Given the description of an element on the screen output the (x, y) to click on. 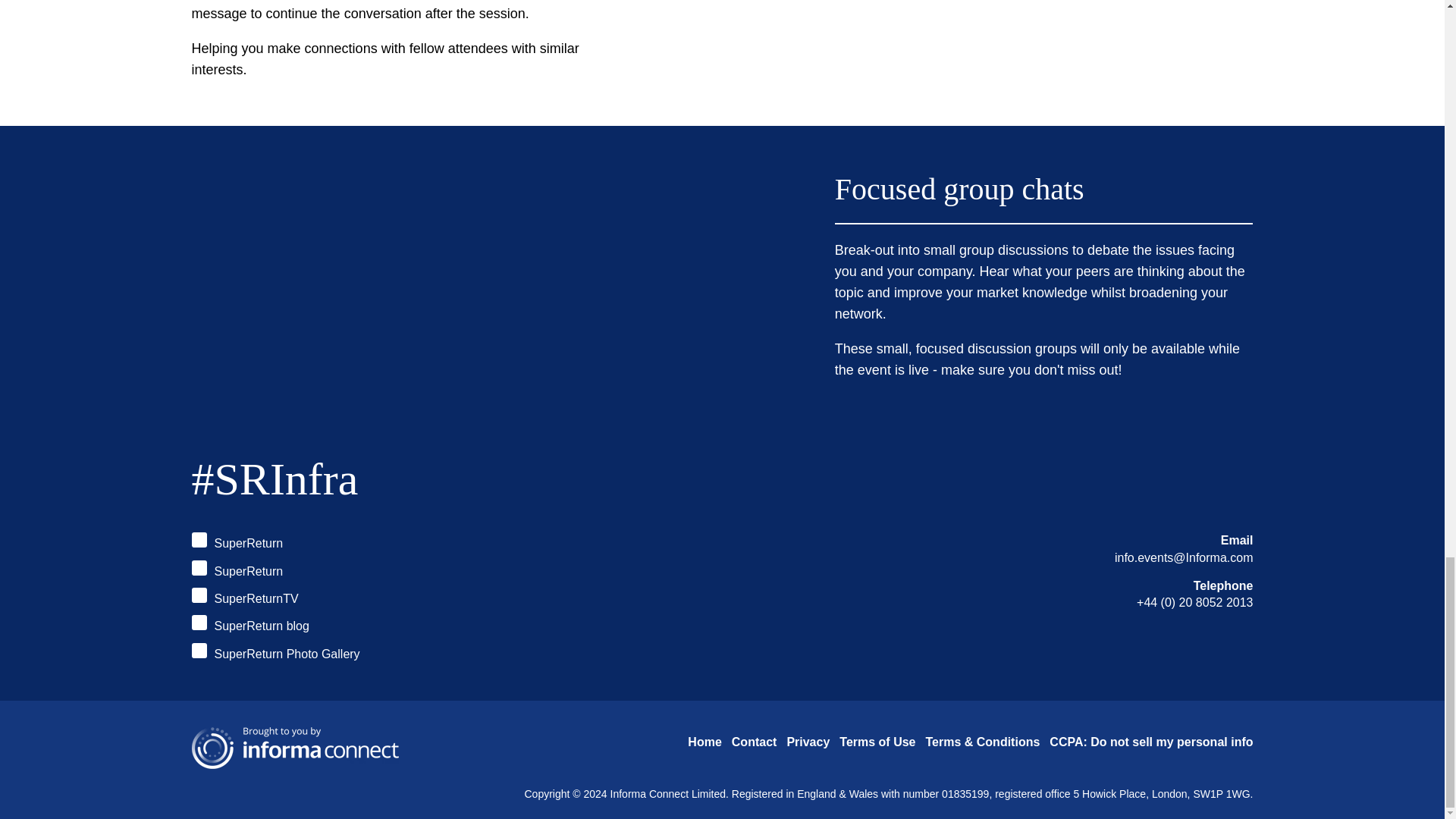
SuperReturn blog (249, 624)
SuperReturnTV (244, 597)
Home (703, 741)
SuperReturn Photo Gallery (274, 652)
Contact (754, 741)
Privacy (807, 741)
Terms of Use (877, 741)
SuperReturn (236, 542)
SuperReturn (236, 569)
